Given the description of an element on the screen output the (x, y) to click on. 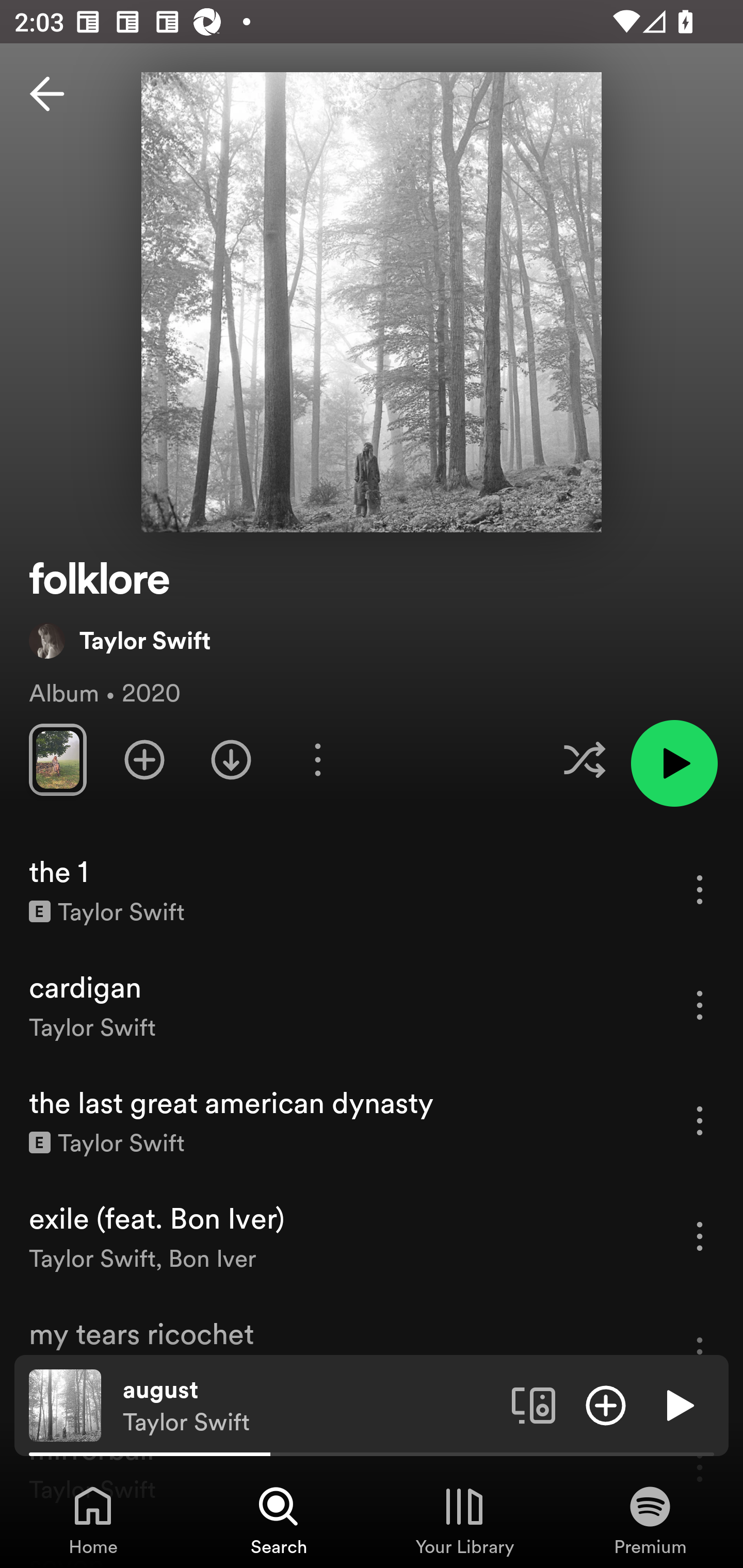
Back (46, 93)
Taylor Swift (119, 640)
Swipe through previews of tracks from this album. (57, 759)
Add playlist to Your Library (144, 759)
Download (230, 759)
More options for playlist folklore (317, 759)
Enable shuffle for this playlist (583, 759)
Play playlist (674, 763)
More options for song the 1 (699, 889)
More options for song cardigan (699, 1004)
More options for song exile (feat. Bon Iver) (699, 1236)
august Taylor Swift (309, 1405)
The cover art of the currently playing track (64, 1404)
Connect to a device. Opens the devices menu (533, 1404)
Add item (605, 1404)
Play (677, 1404)
Home, Tab 1 of 4 Home Home (92, 1519)
Search, Tab 2 of 4 Search Search (278, 1519)
Your Library, Tab 3 of 4 Your Library Your Library (464, 1519)
Premium, Tab 4 of 4 Premium Premium (650, 1519)
